Given the description of an element on the screen output the (x, y) to click on. 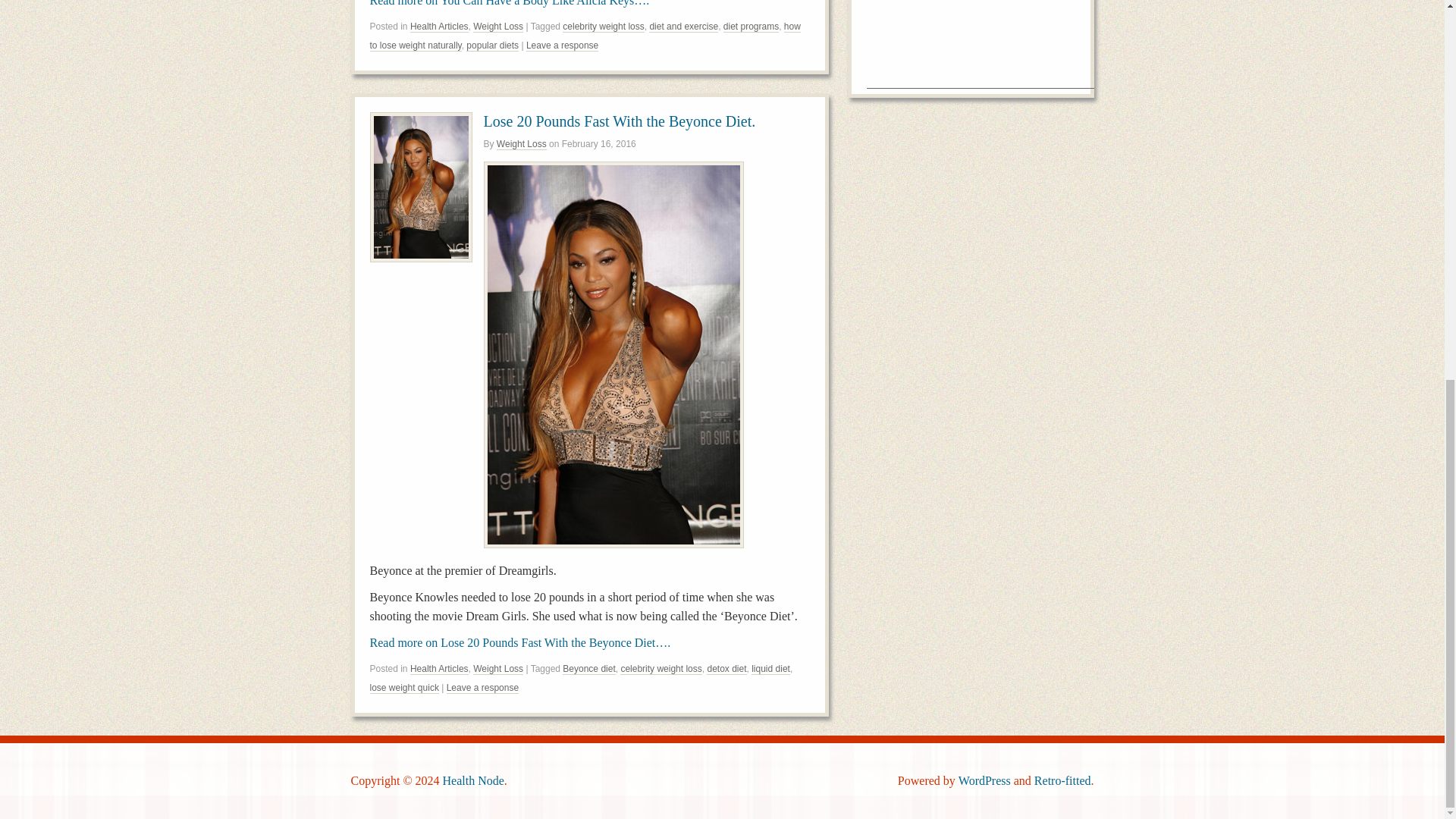
lose weight quick (404, 687)
Comment on You Can Have a Body Like Alicia Keys. (561, 45)
Leave a response (482, 687)
Comment on Lose 20 Pounds Fast With the Beyonce Diet. (482, 687)
Leave a response (561, 45)
Weight Loss (521, 143)
Weight Loss (497, 668)
Retro-fitted WordPress Theme (1061, 780)
Health Node (472, 780)
celebrity weight loss (602, 26)
